Given the description of an element on the screen output the (x, y) to click on. 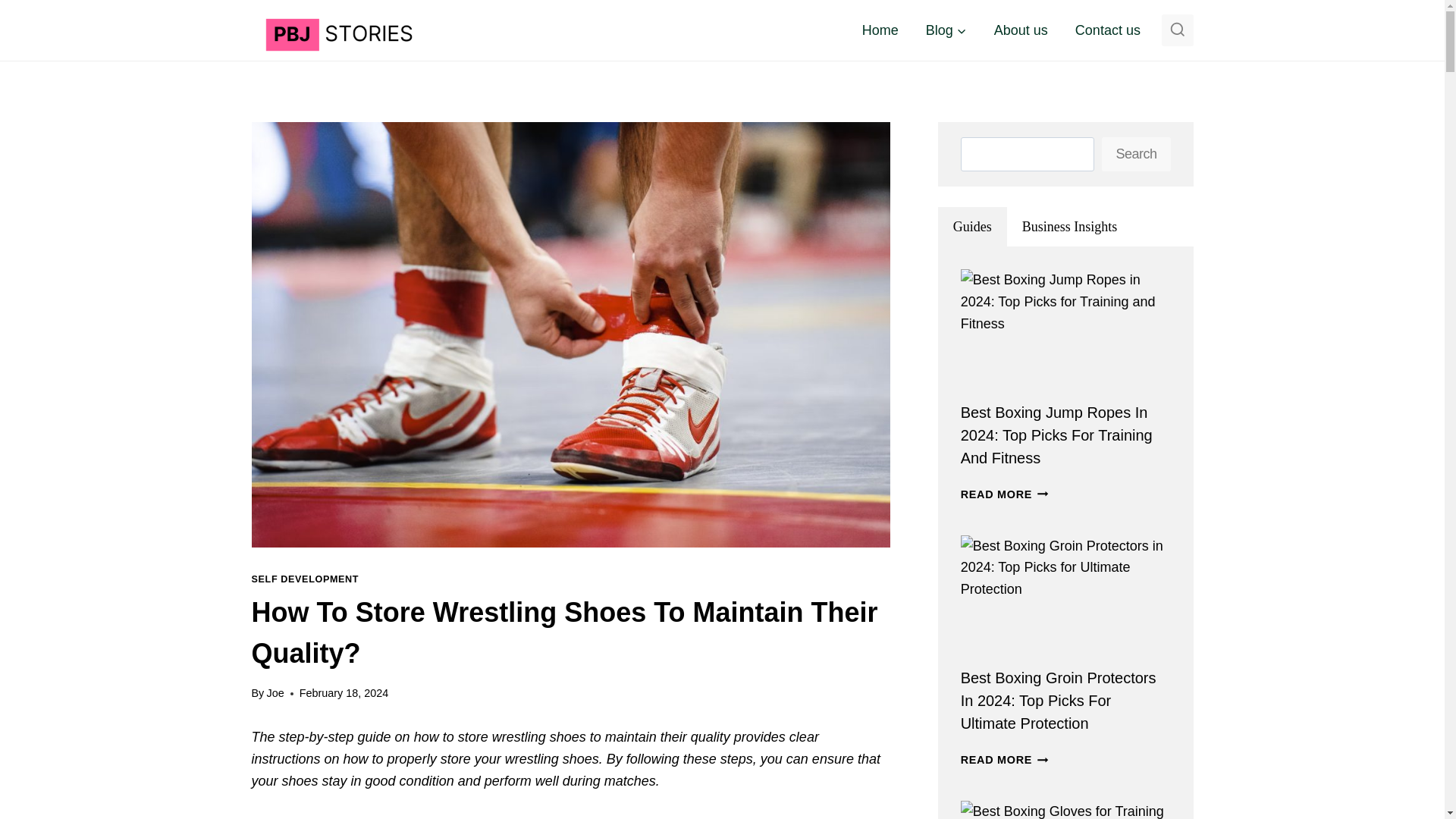
Contact us (1107, 30)
About us (1020, 30)
SELF DEVELOPMENT (305, 579)
Home (880, 30)
Joe (274, 693)
Blog (945, 30)
